Given the description of an element on the screen output the (x, y) to click on. 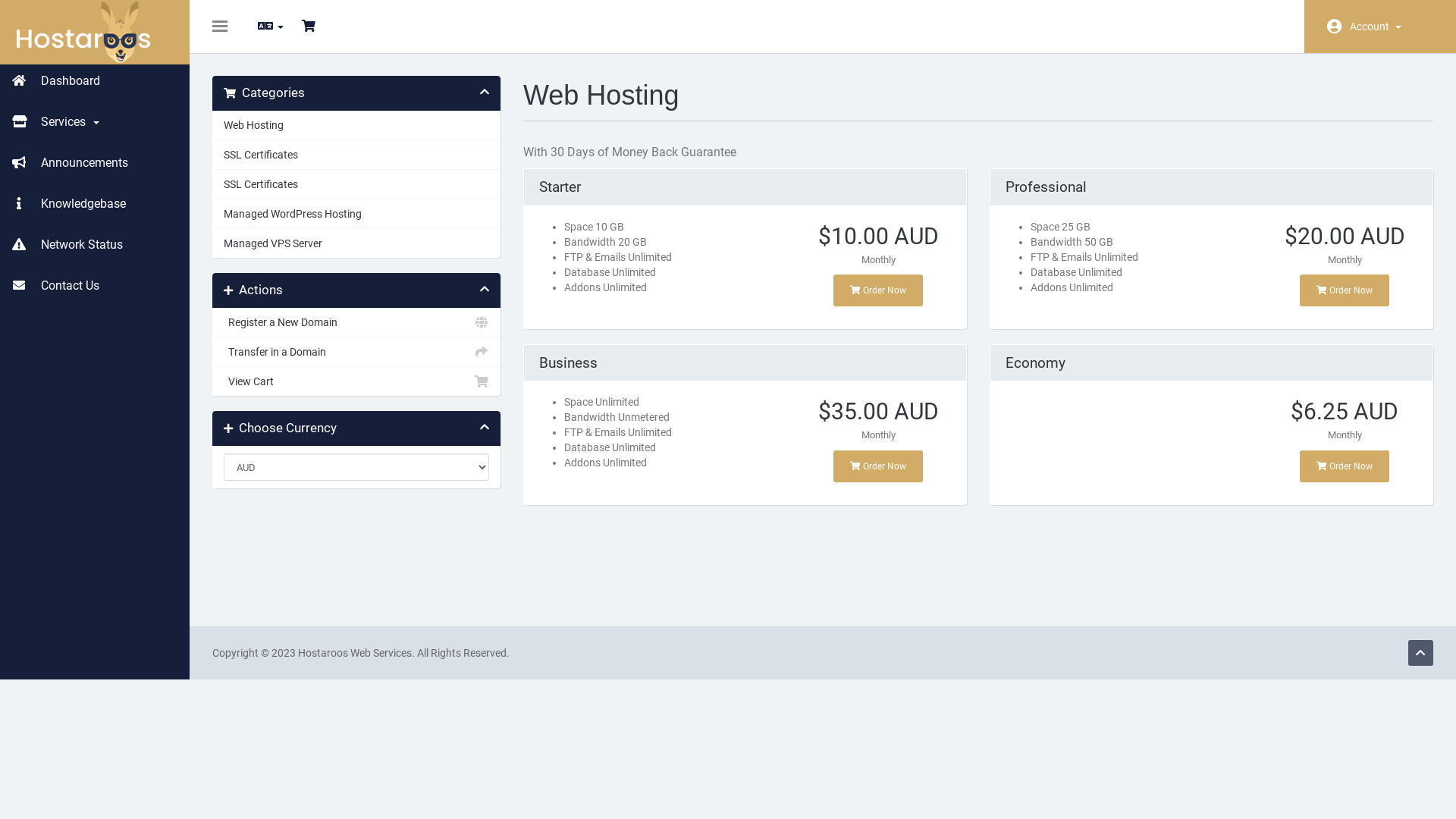
Network Status Element type: text (94, 244)
Order Now Element type: text (1344, 466)
Order Now Element type: text (877, 466)
Managed VPS Server Element type: text (356, 242)
Toggle navigation Element type: text (219, 26)
SSL Certificates Element type: text (356, 184)
Dashboard Element type: text (94, 80)
Services   Element type: text (94, 121)
  Transfer in a Domain Element type: text (356, 351)
Order Now Element type: text (877, 290)
  View Cart Element type: text (356, 380)
SSL Certificates Element type: text (356, 154)
Knowledgebase Element type: text (94, 203)
Web Hosting Element type: text (356, 125)
Announcements Element type: text (94, 162)
Managed WordPress Hosting Element type: text (356, 213)
  Register a New Domain Element type: text (356, 322)
Order Now Element type: text (1344, 290)
Contact Us Element type: text (94, 285)
